Given the description of an element on the screen output the (x, y) to click on. 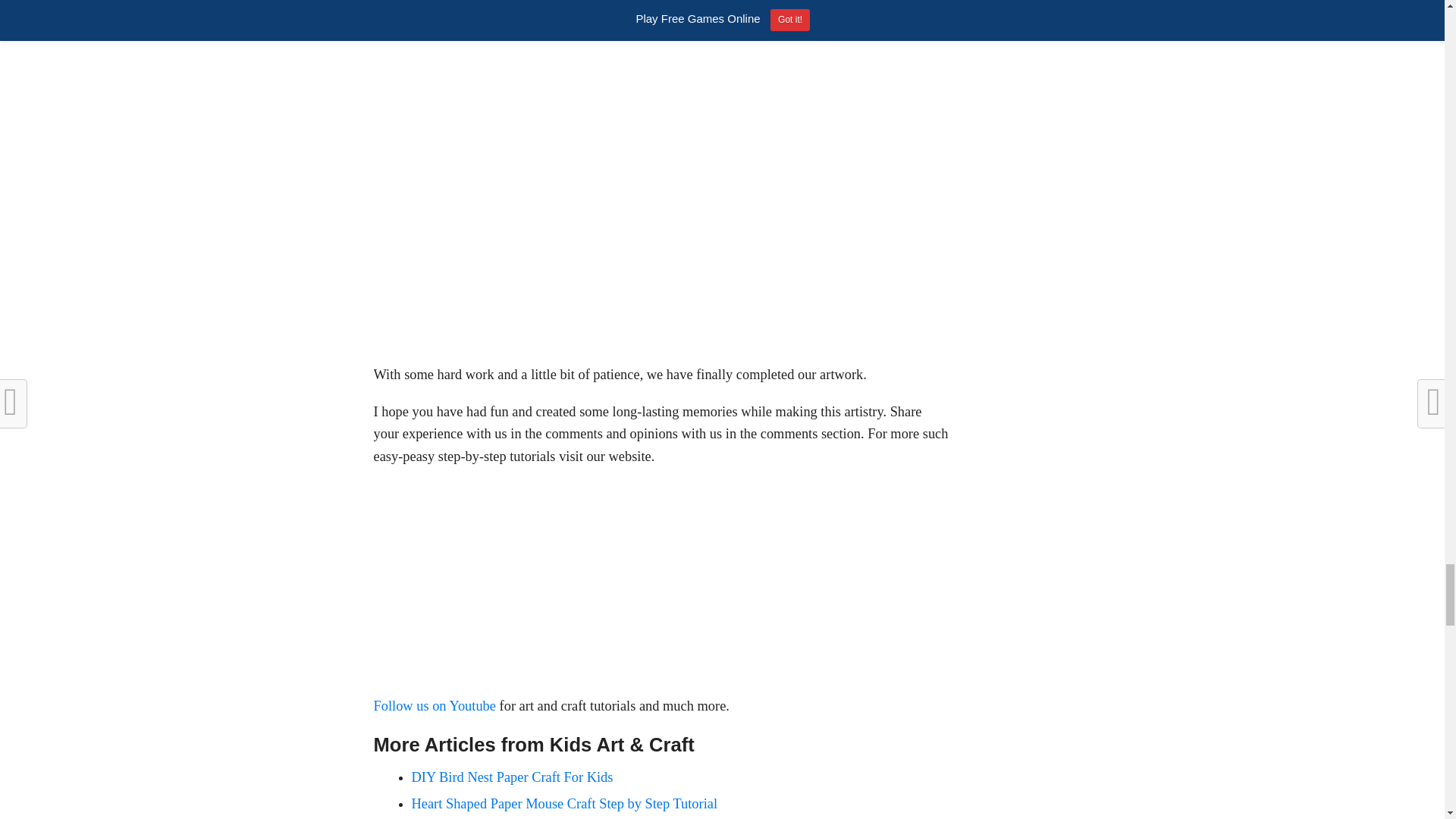
Heart Shaped Paper Mouse Craft Step by Step Tutorial (563, 803)
DIY Bird Nest Paper Craft For Kids (511, 776)
